Given the description of an element on the screen output the (x, y) to click on. 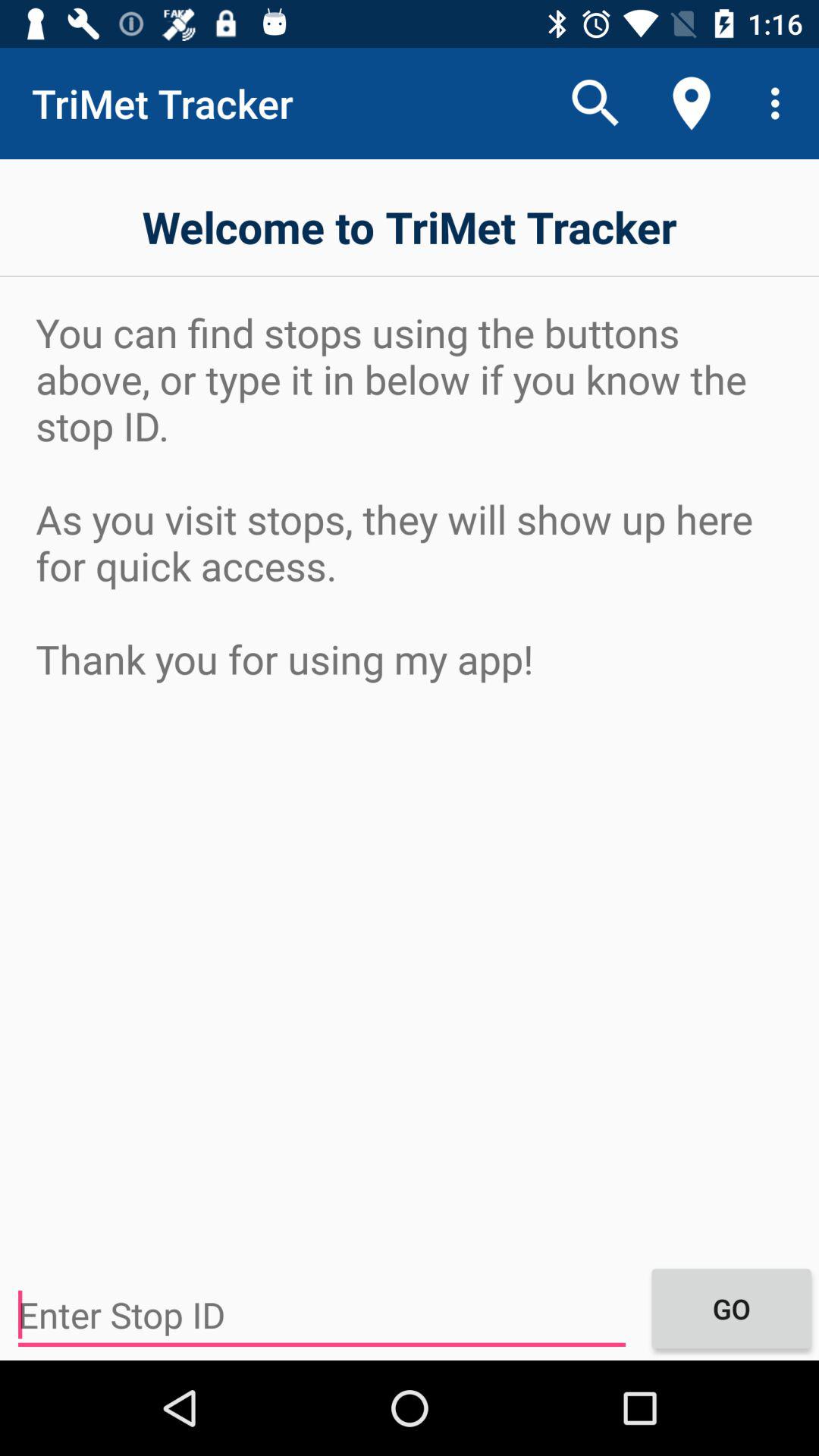
turn off item next to the go (321, 1315)
